Given the description of an element on the screen output the (x, y) to click on. 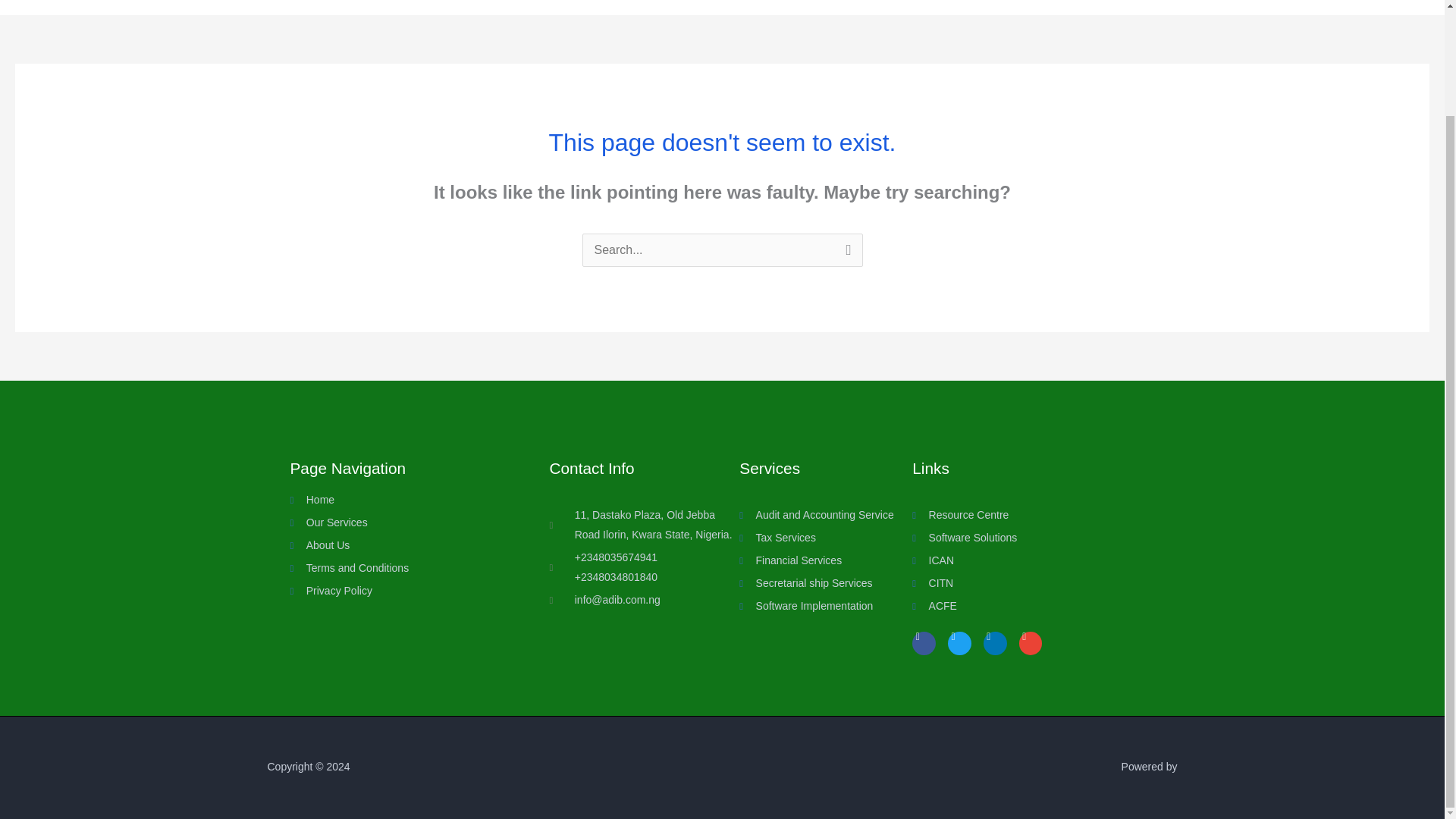
Secretarial ship Services (825, 583)
Software Solutions (1023, 537)
Envelope (1030, 643)
Privacy Policy (394, 591)
Linkedin-in (995, 643)
Twitter (959, 643)
Software Implementation (825, 606)
Search (844, 252)
ACFE (1023, 606)
CITN (1023, 583)
Our Services (394, 523)
Search (844, 252)
Financial Services (825, 560)
Tax Services (825, 537)
Search (844, 252)
